Given the description of an element on the screen output the (x, y) to click on. 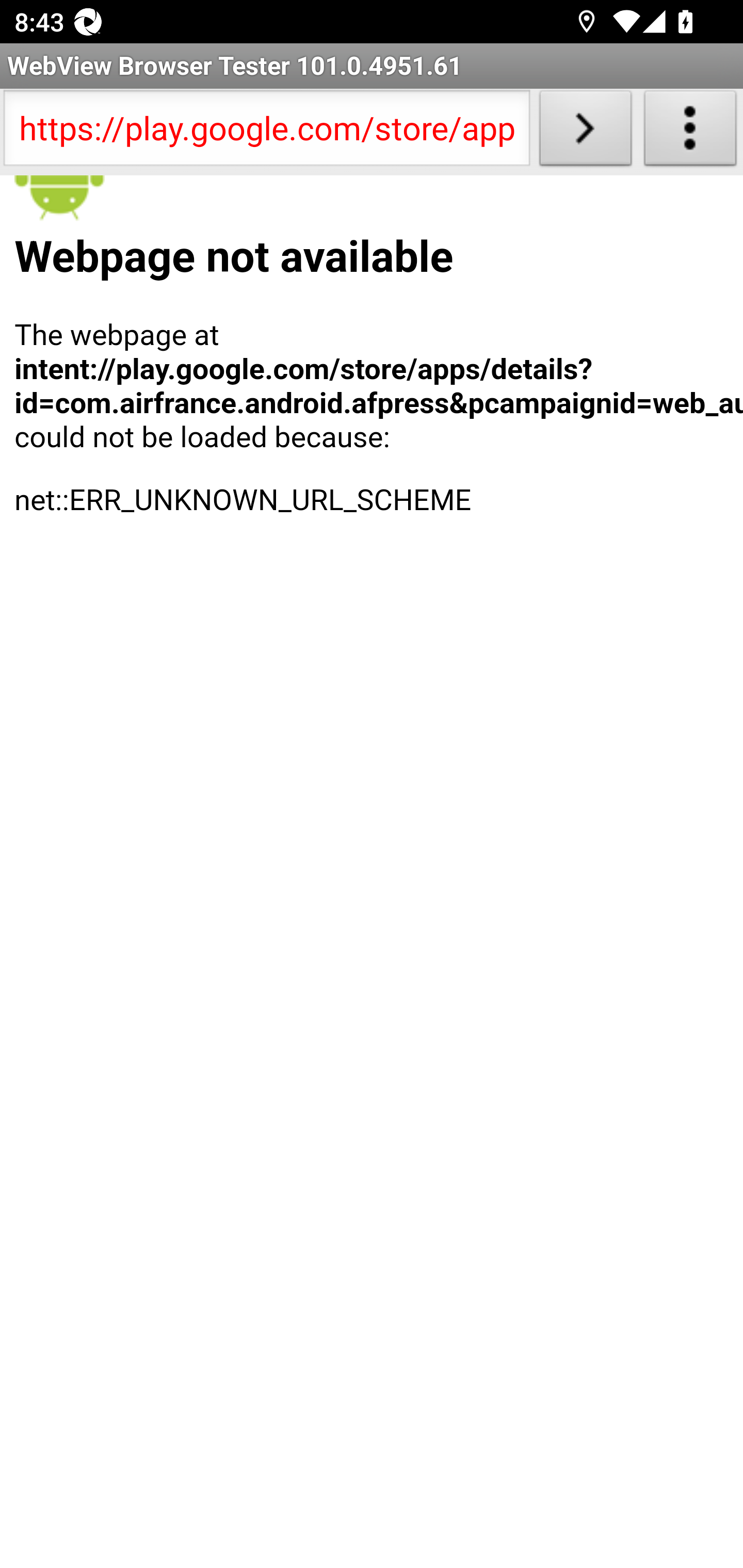
Load URL (585, 132)
About WebView (690, 132)
